Given the description of an element on the screen output the (x, y) to click on. 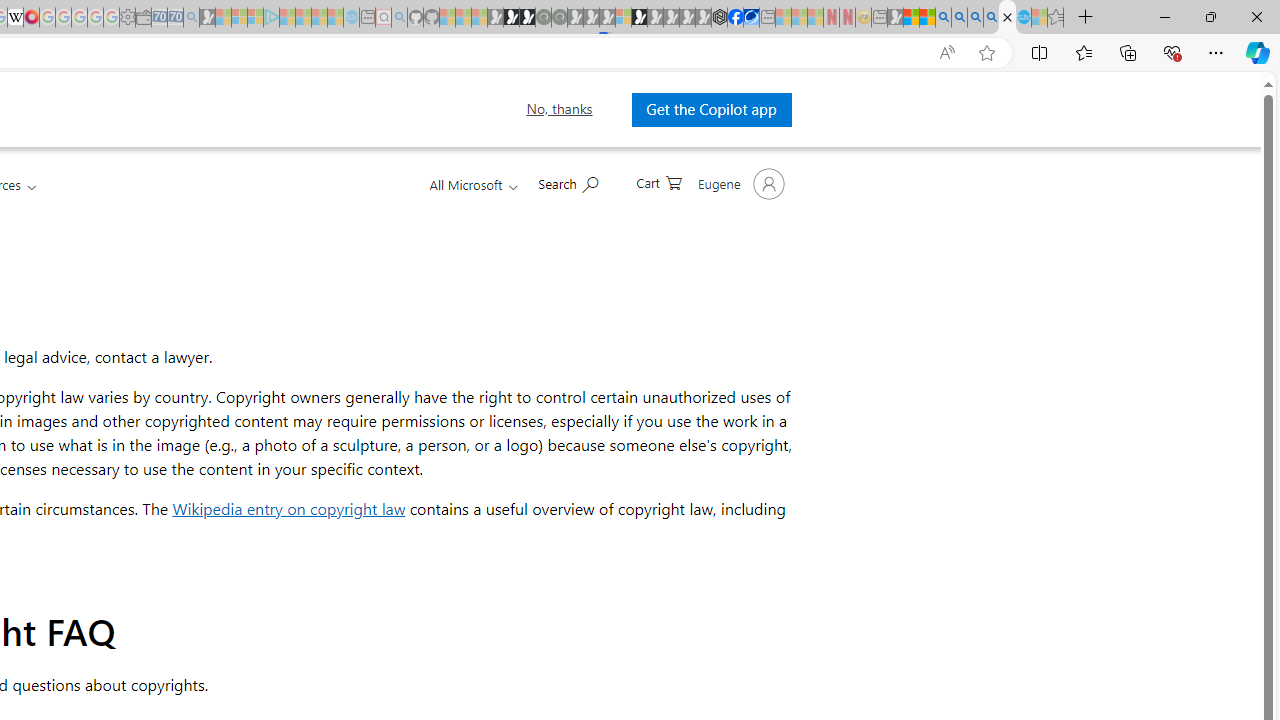
AirNow.gov (751, 17)
No, thanks (559, 109)
MSN - Sleeping (895, 17)
